Given the description of an element on the screen output the (x, y) to click on. 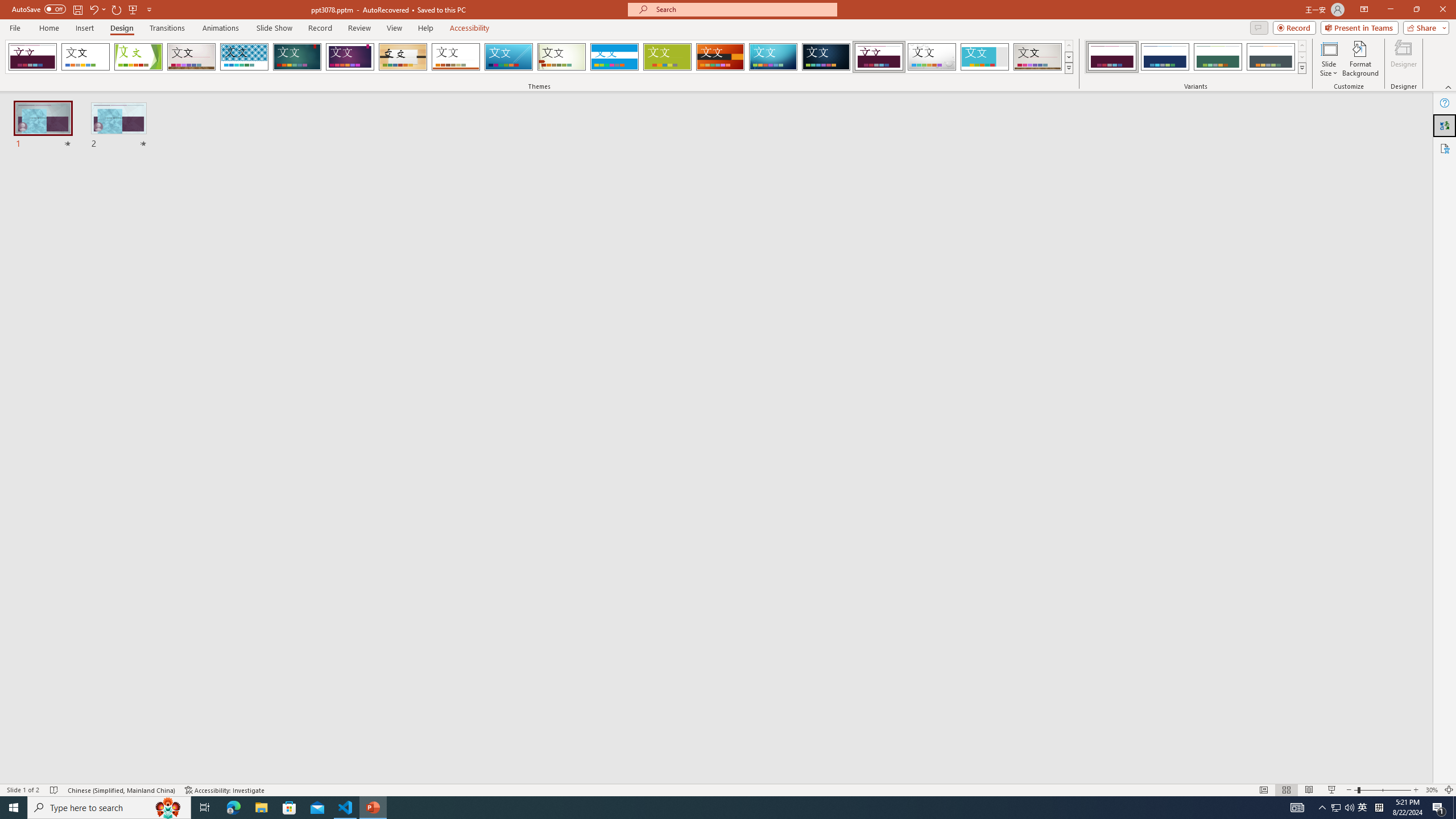
Dividend Variant 1 (1112, 56)
Ion (296, 56)
Ion Boardroom (350, 56)
Basis (667, 56)
